Given the description of an element on the screen output the (x, y) to click on. 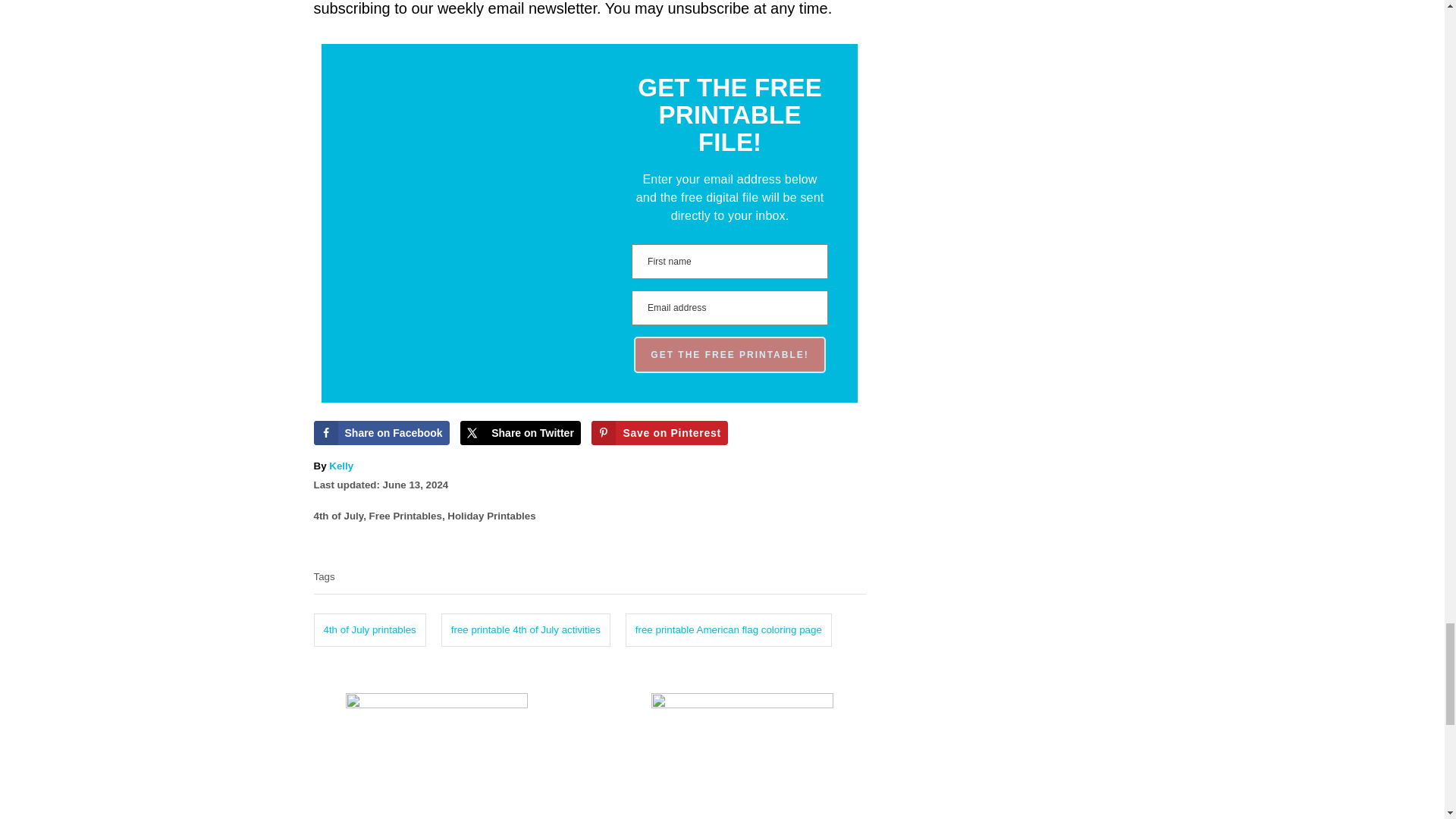
Share on Facebook (381, 432)
Save to Pinterest (658, 432)
Share on X (520, 432)
